Given the description of an element on the screen output the (x, y) to click on. 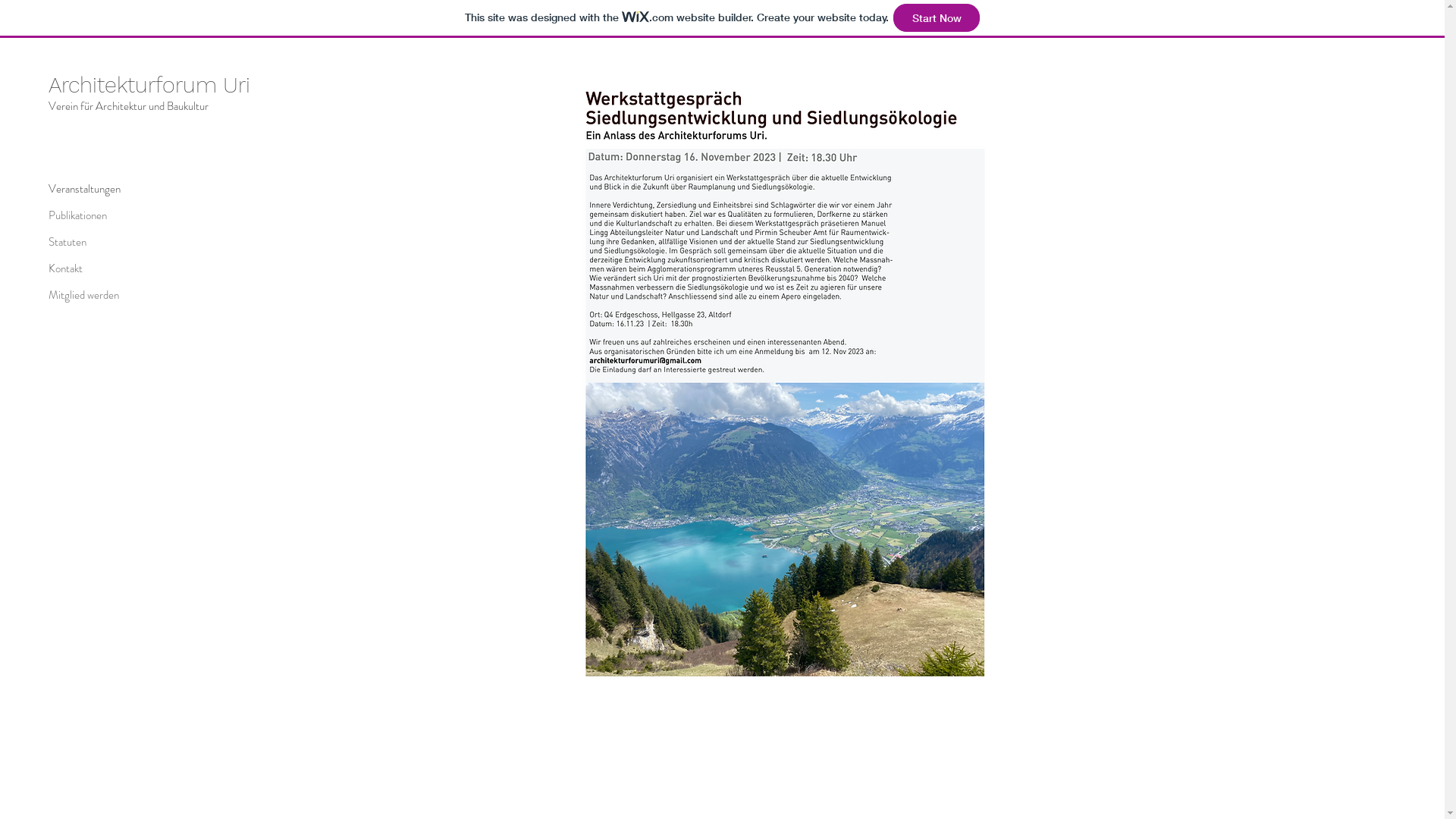
Statuten Element type: text (101, 242)
Kontakt Element type: text (101, 268)
Veranstaltungen Element type: text (101, 188)
Mitglied werden Element type: text (101, 295)
Architekturforum Uri Element type: text (149, 84)
Publikationen Element type: text (101, 215)
